Given the description of an element on the screen output the (x, y) to click on. 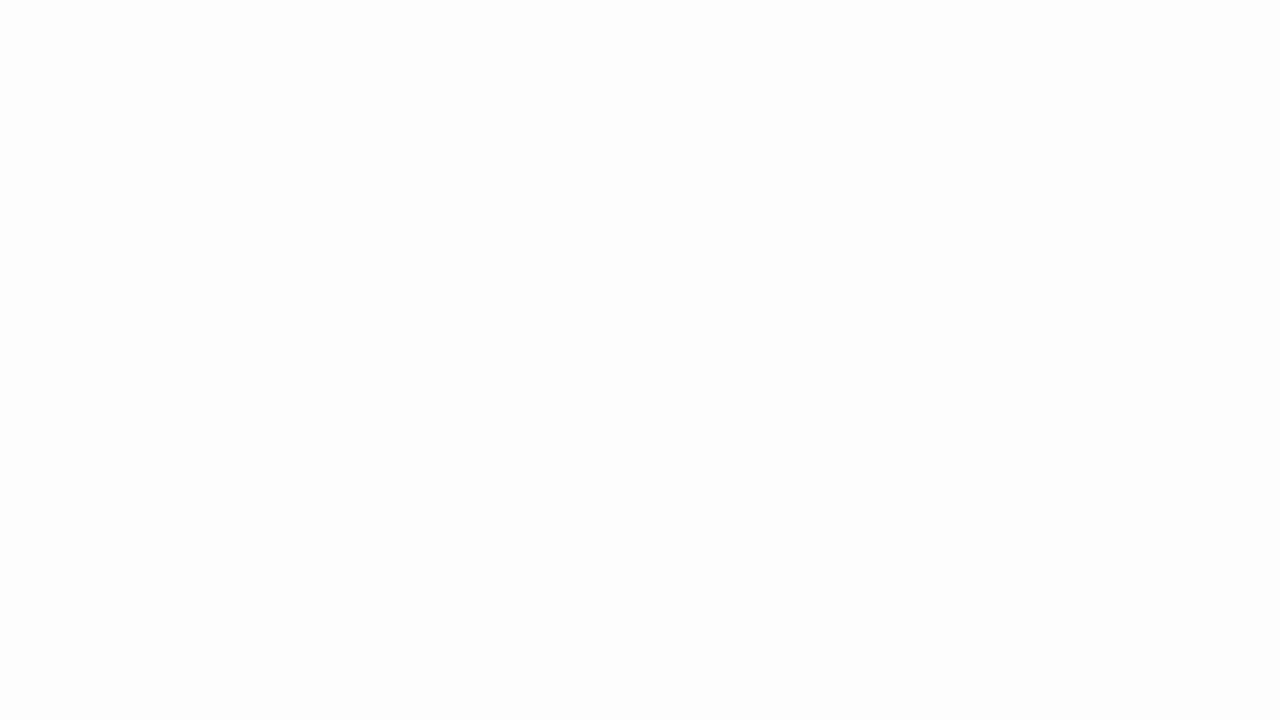
Cell Styles (280, 120)
Format (411, 102)
Insert Cells (328, 84)
AutoSum (497, 78)
Row up (280, 79)
Calculation (218, 86)
Neutral (113, 86)
Linked Cell (113, 114)
Sort & Filter (566, 102)
